Given the description of an element on the screen output the (x, y) to click on. 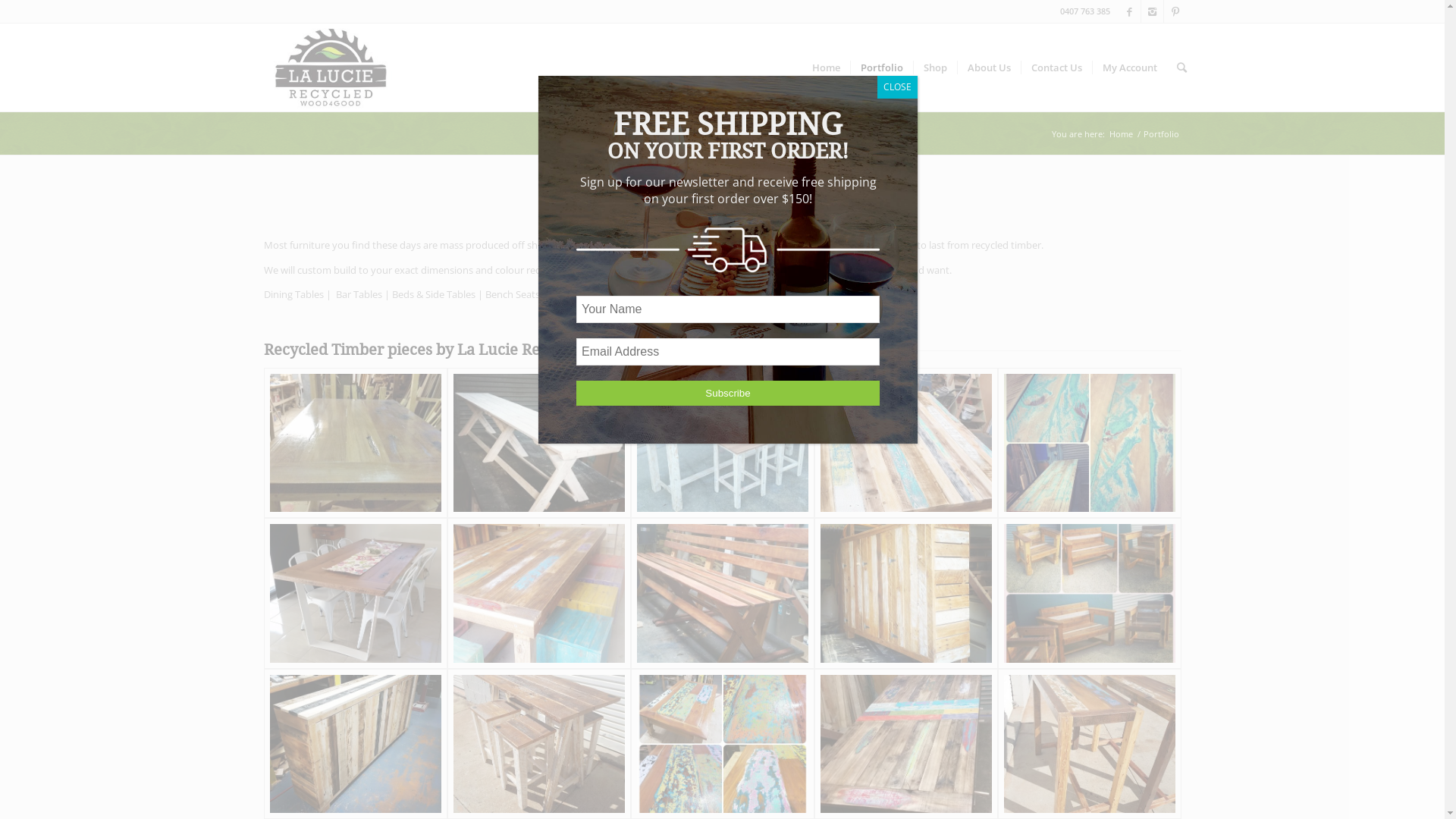
About Us Element type: text (988, 67)
Subscribe Element type: text (727, 392)
Contact Us Element type: text (1056, 67)
Aqua Tones Element type: hover (1089, 442)
Tasmanian Oak & Whitewash Bar Set Element type: hover (722, 442)
Multi Coloured Dining Table with stackable box seats Element type: hover (538, 592)
0407 763 385 Element type: text (1085, 10)
My Account Element type: text (1129, 67)
Portfolio Element type: text (881, 67)
Hardwood Table Top Element type: hover (355, 442)
Facebook Element type: hover (1129, 11)
Home Element type: text (1121, 133)
Home Element type: text (826, 67)
Whitewash Bench Seat Element type: hover (538, 442)
Shop Element type: text (935, 67)
Shoe Cupboard Element type: hover (905, 592)
Tasmanian Oak Bench Seat Element type: hover (722, 592)
CLOSE Element type: text (897, 86)
Pinterest Element type: hover (1175, 11)
Instagram Element type: hover (1152, 11)
Hardwood Dining Table with Steel Legs Element type: hover (355, 592)
Recycled Timber Outdoor Set Element type: hover (1089, 592)
Multicoloured Table Top Element type: hover (905, 442)
